Given the description of an element on the screen output the (x, y) to click on. 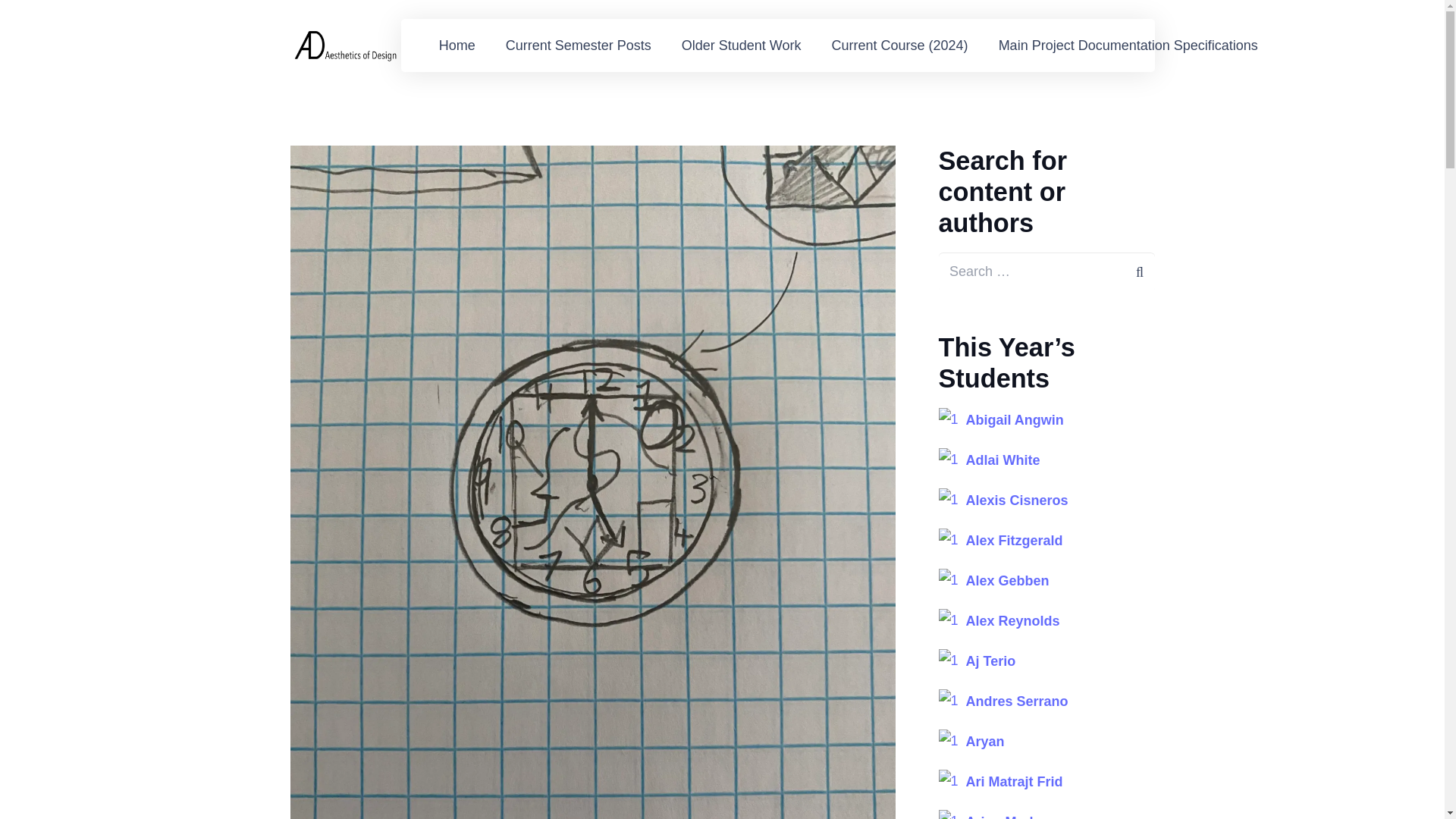
Older Student Work (741, 45)
Current Semester Posts (578, 45)
Home (456, 45)
